Given the description of an element on the screen output the (x, y) to click on. 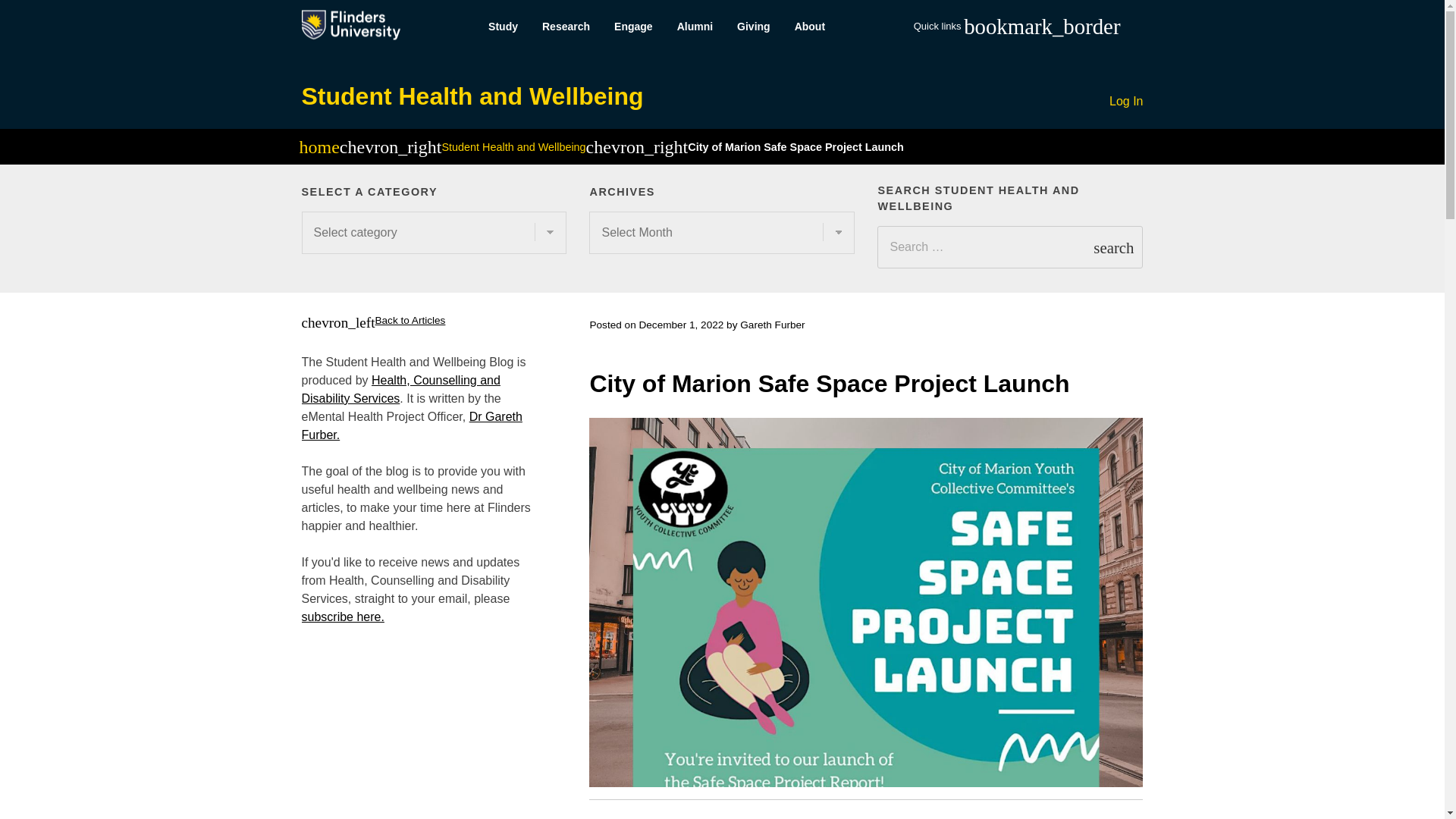
Dr Gareth Furber. (411, 425)
OASIS CLOSURE DATES (1190, 339)
Student Health and Wellbeing (513, 146)
Research (565, 26)
Study (502, 26)
Engage (633, 26)
Health, Counselling and Disability Services (400, 388)
search (1113, 247)
Log In (1125, 101)
home (318, 149)
Student Health and Wellbeing (472, 95)
Gareth Furber (772, 324)
About (810, 26)
Alumni (695, 26)
